Given the description of an element on the screen output the (x, y) to click on. 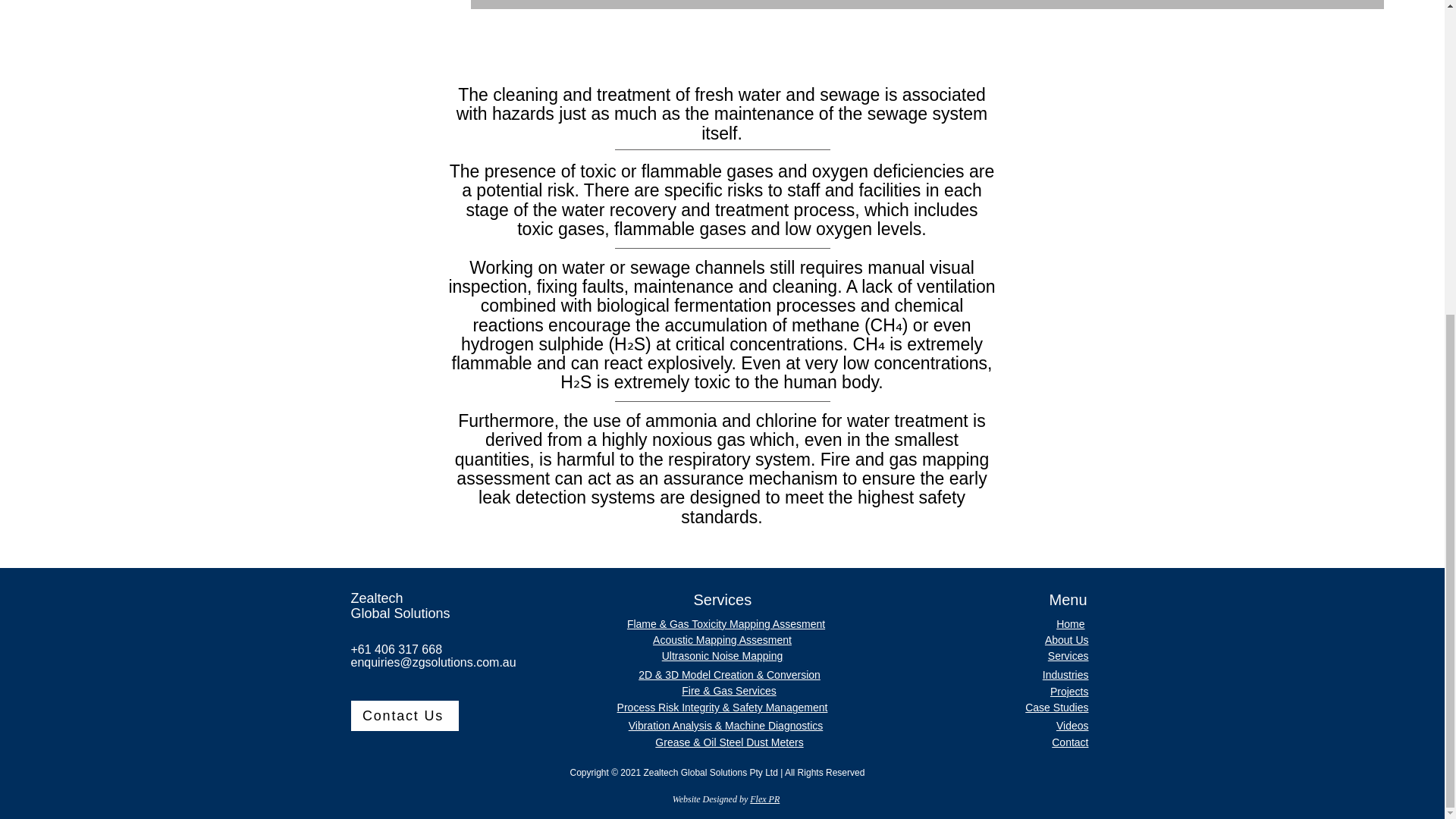
Industries (1065, 674)
Acoustic Mapping Assesment (722, 639)
Ultrasonic Noise Mapping (722, 655)
Projects (1069, 691)
Home (1070, 623)
About Us (1067, 639)
Services (1068, 655)
Contact Us (404, 716)
